Given the description of an element on the screen output the (x, y) to click on. 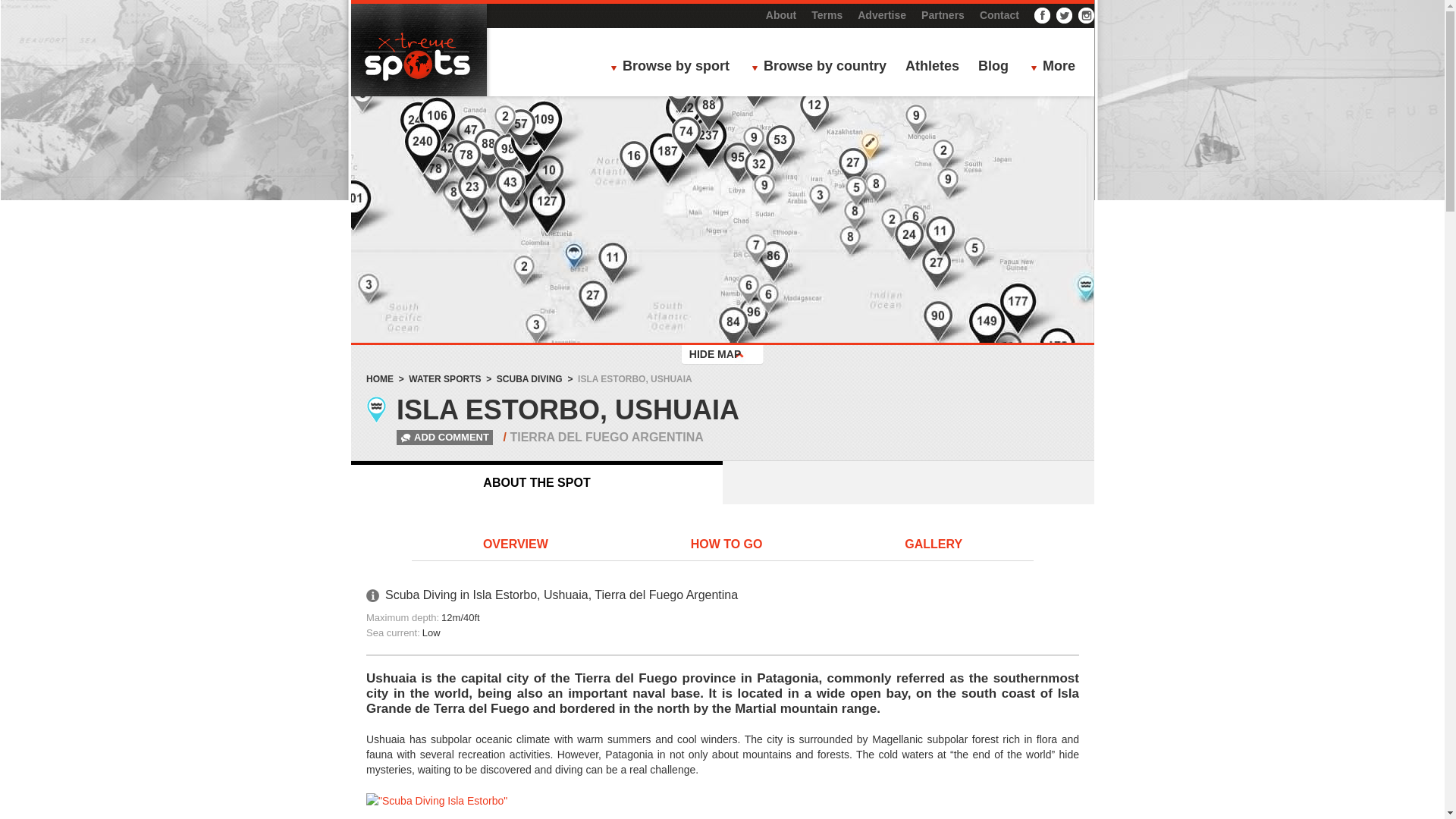
ADD COMMENT (431, 437)
More (1056, 67)
OVERVIEW (516, 545)
Terms (826, 15)
Scuba Diving Isla Estorbo (722, 806)
Partners (942, 15)
SCUBA DIVING (529, 378)
Athletes (932, 67)
About (780, 15)
WATER SPORTS (444, 378)
Browse by sport (674, 67)
Browse by country (823, 67)
Contact (999, 15)
GALLERY (932, 545)
HOME (379, 378)
